Given the description of an element on the screen output the (x, y) to click on. 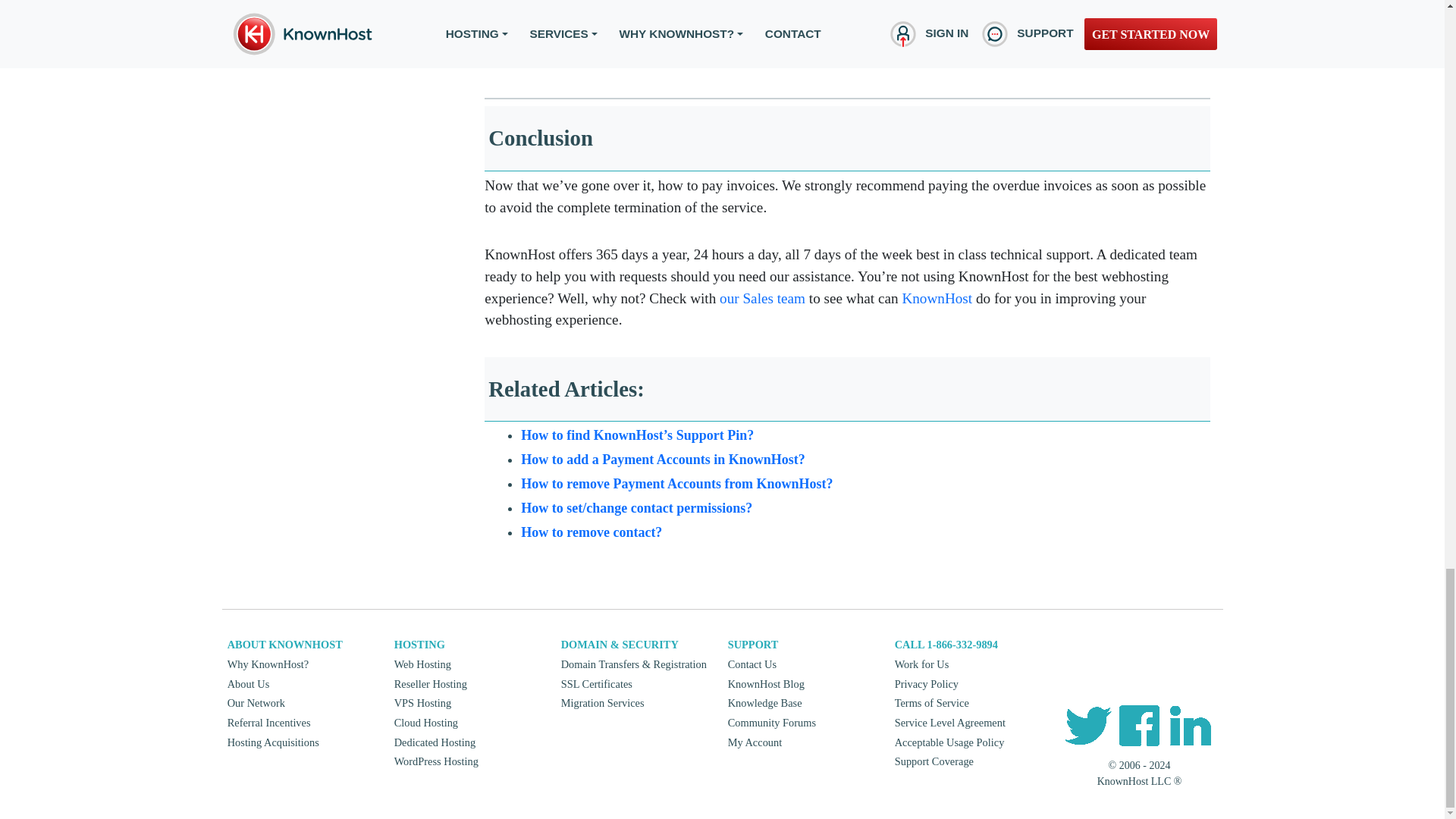
How to add a Payment Accounts in KnownHost? (663, 459)
How to remove contact? (591, 531)
How to remove Payment Accounts from KnownHost? (676, 483)
